Given the description of an element on the screen output the (x, y) to click on. 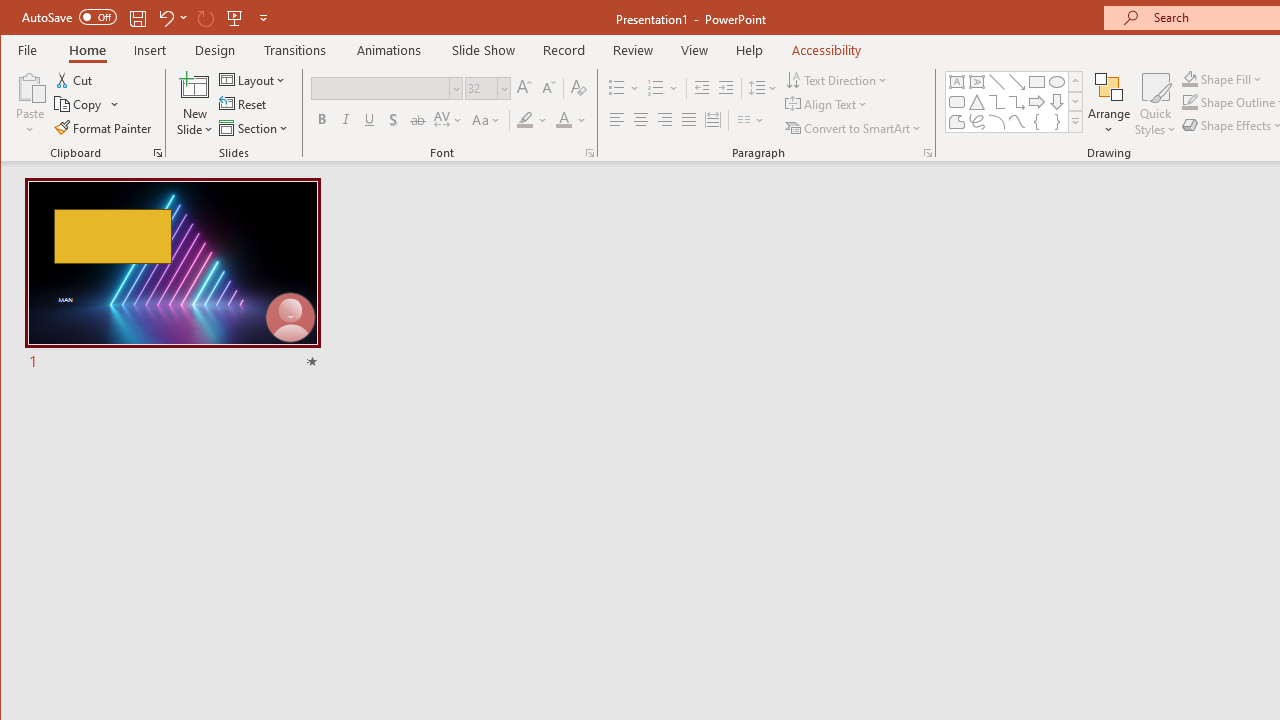
Bold (321, 119)
Format Painter (104, 127)
Center (640, 119)
Line Arrow (1016, 82)
Text Highlight Color (532, 119)
Strikethrough (417, 119)
Shapes (1074, 121)
Font... (589, 152)
Align Left (616, 119)
